Given the description of an element on the screen output the (x, y) to click on. 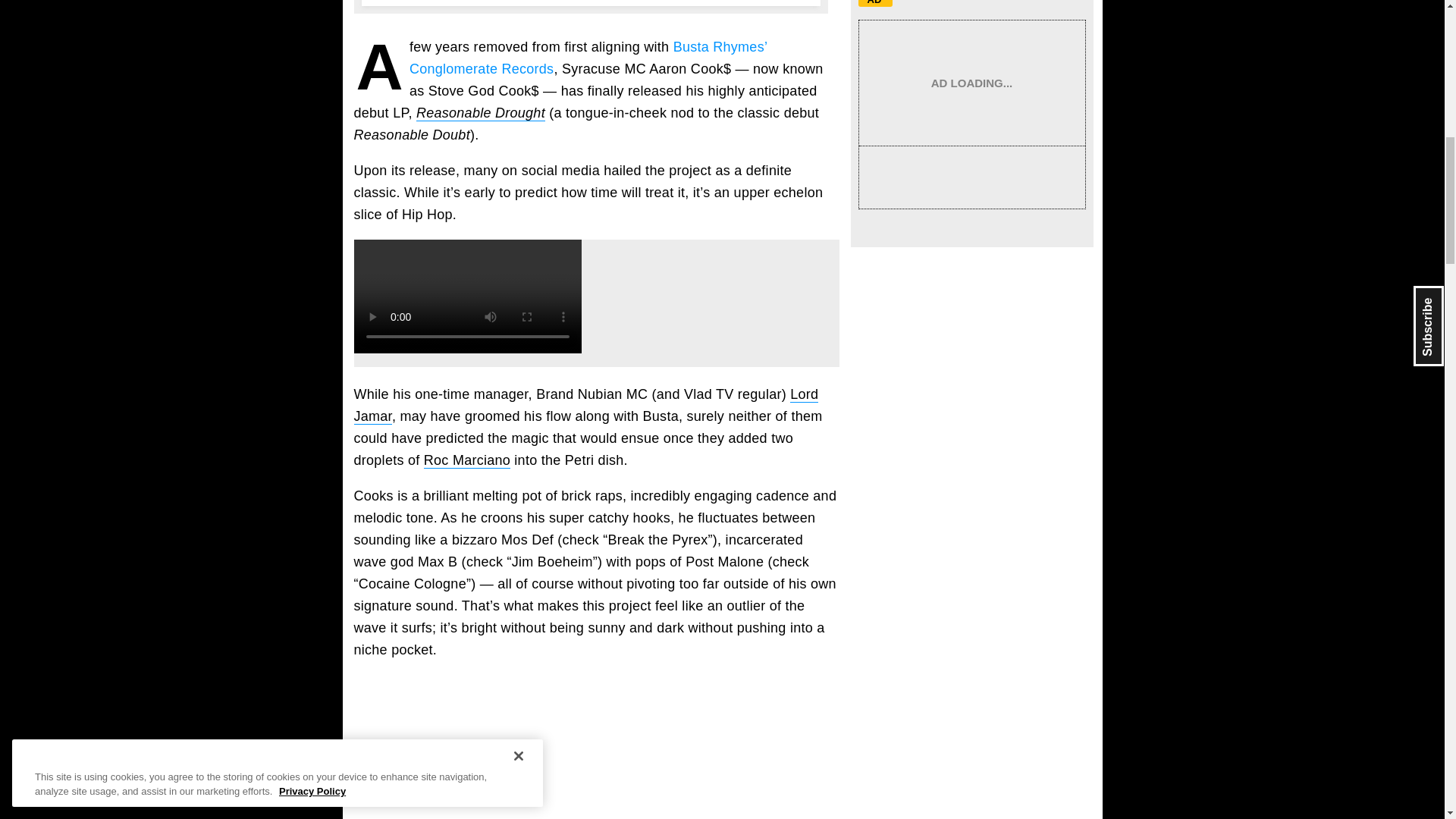
Roc Marciano (467, 460)
11.  Cocaine Cologne (595, 746)
Lord Jamar (585, 405)
Reasonable Drought (480, 113)
